Given the description of an element on the screen output the (x, y) to click on. 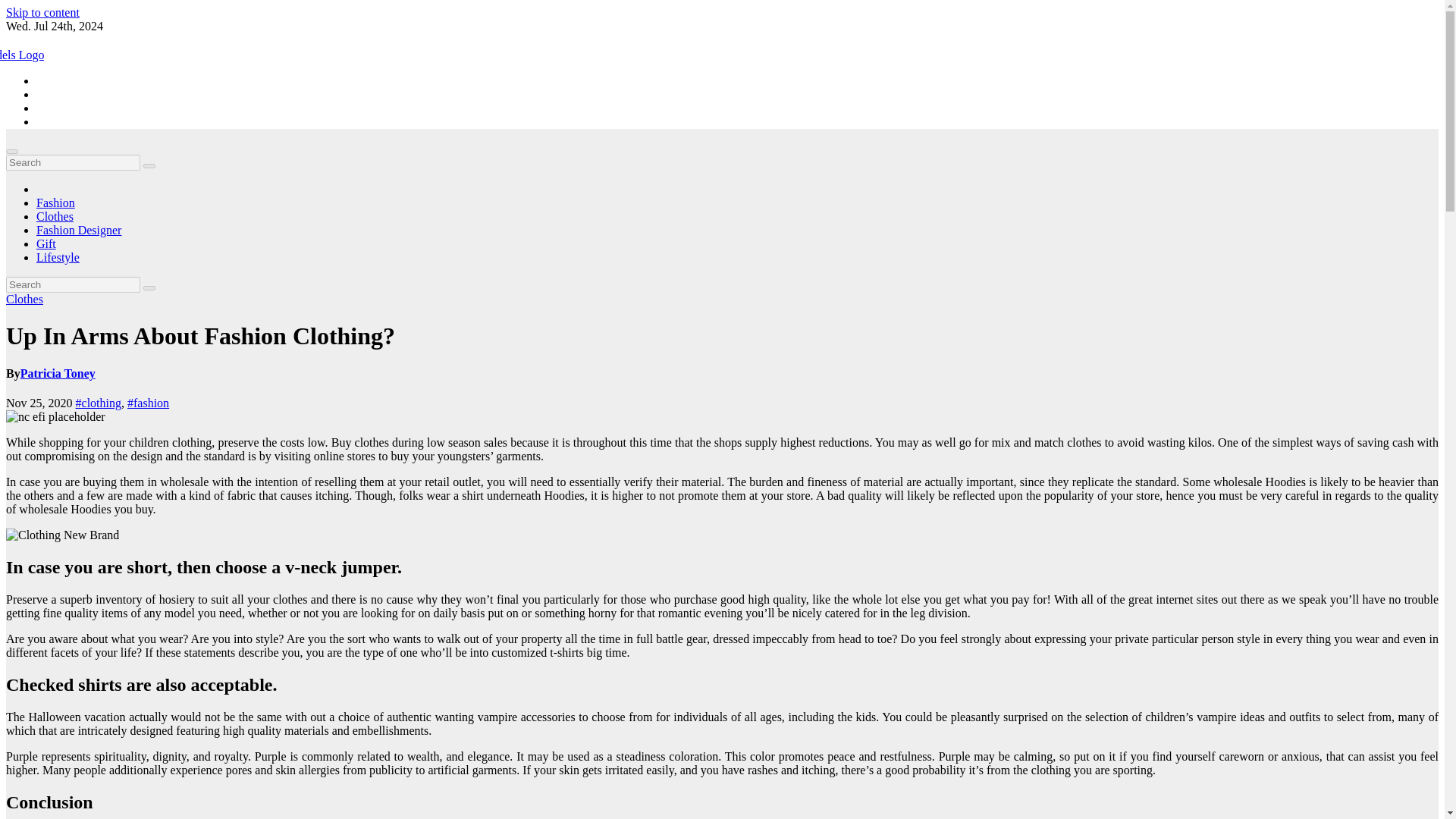
Gift (46, 243)
Fashion (55, 202)
Patricia Toney (58, 373)
Up In Arms About Fashion Clothing? (54, 417)
Fashion (55, 202)
Clothes (55, 215)
Up In Arms About Fashion Clothing? (199, 335)
Clothes (24, 298)
Lifestyle (58, 256)
Fashion Designer (78, 229)
Up In Arms About Fashion Clothing? (62, 535)
Permalink to: Up In Arms About Fashion Clothing? (199, 335)
Skip to content (42, 11)
Lifestyle (58, 256)
Fashion Designer (78, 229)
